Given the description of an element on the screen output the (x, y) to click on. 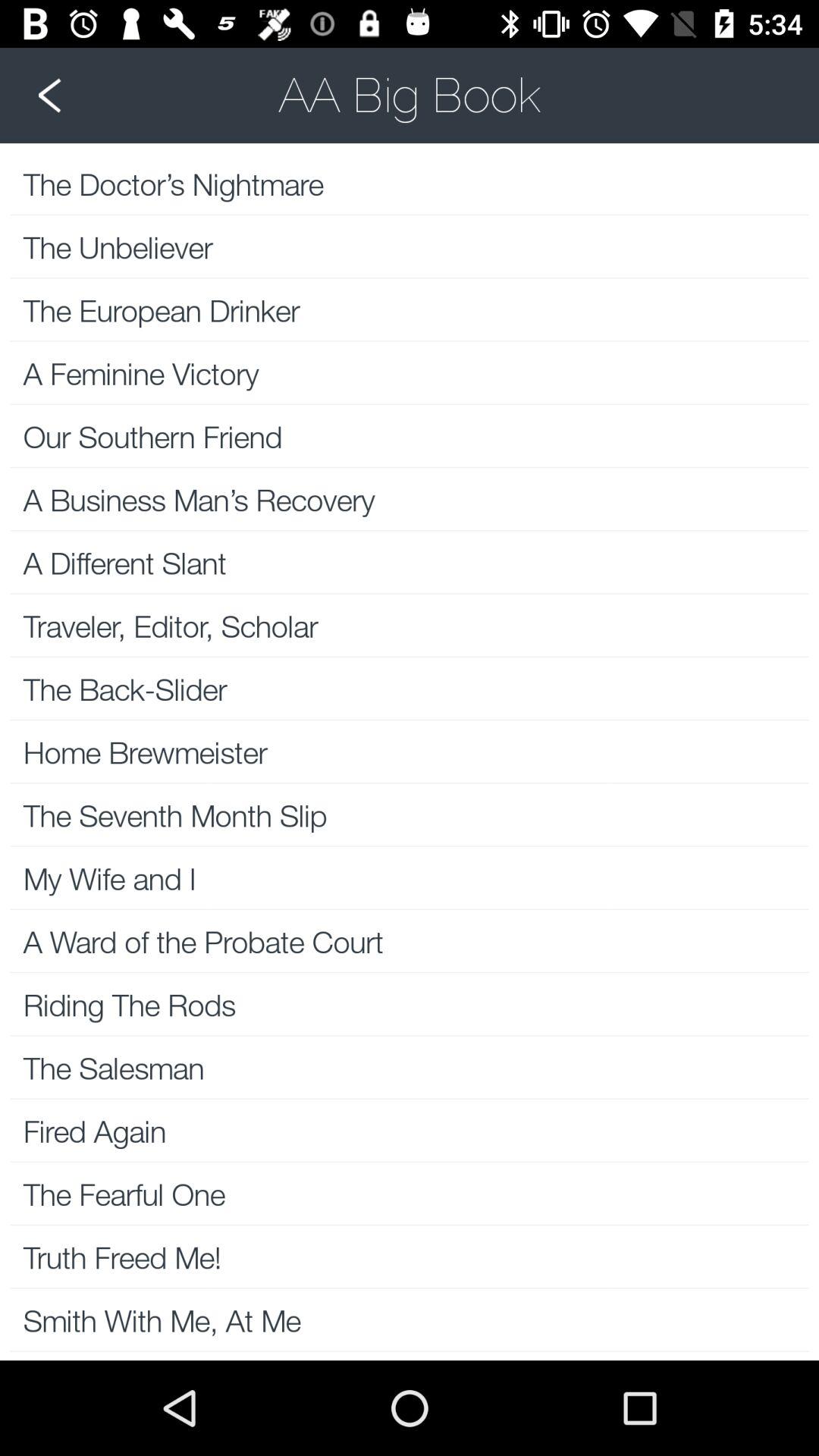
category of books you are looking at (409, 95)
